Given the description of an element on the screen output the (x, y) to click on. 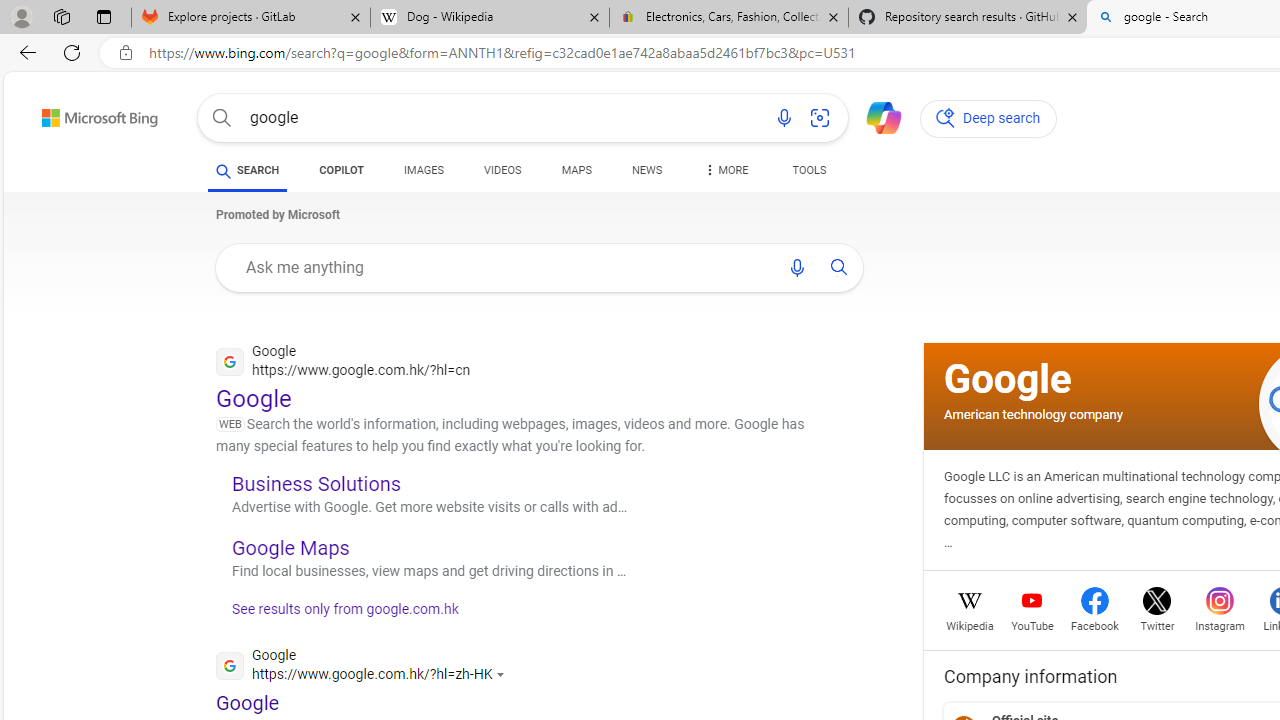
Skip to content (64, 111)
AutomationID: uaseabtn (839, 267)
Google Maps (290, 547)
NEWS (646, 173)
COPILOT (341, 170)
MAPS (576, 173)
Chat (875, 116)
Wikipedia (969, 624)
Search using an image (820, 117)
SEARCH (247, 170)
SEARCH (247, 170)
Twitter (1156, 624)
Dog - Wikipedia (490, 17)
